Given the description of an element on the screen output the (x, y) to click on. 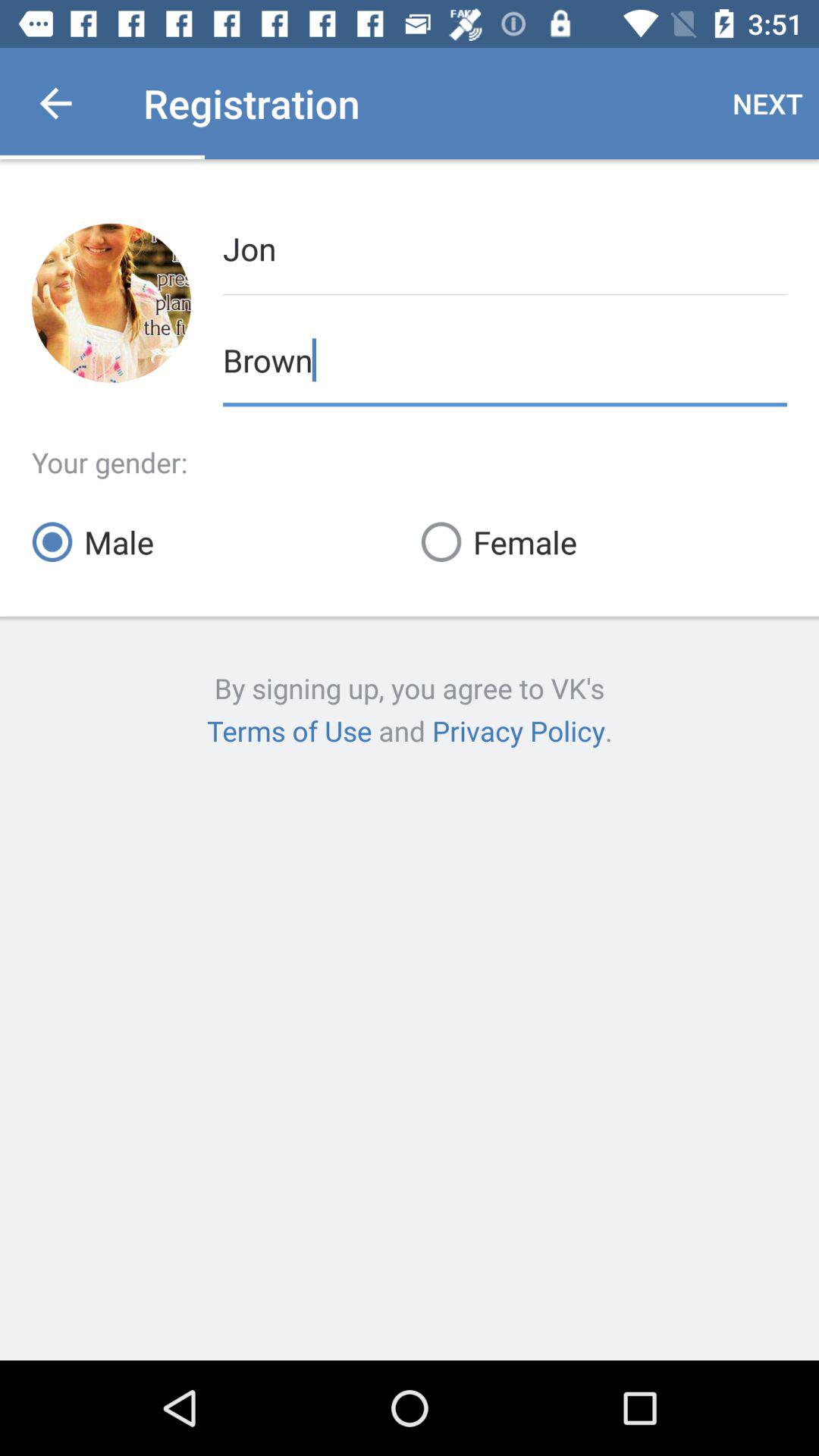
open item on the right (603, 541)
